Given the description of an element on the screen output the (x, y) to click on. 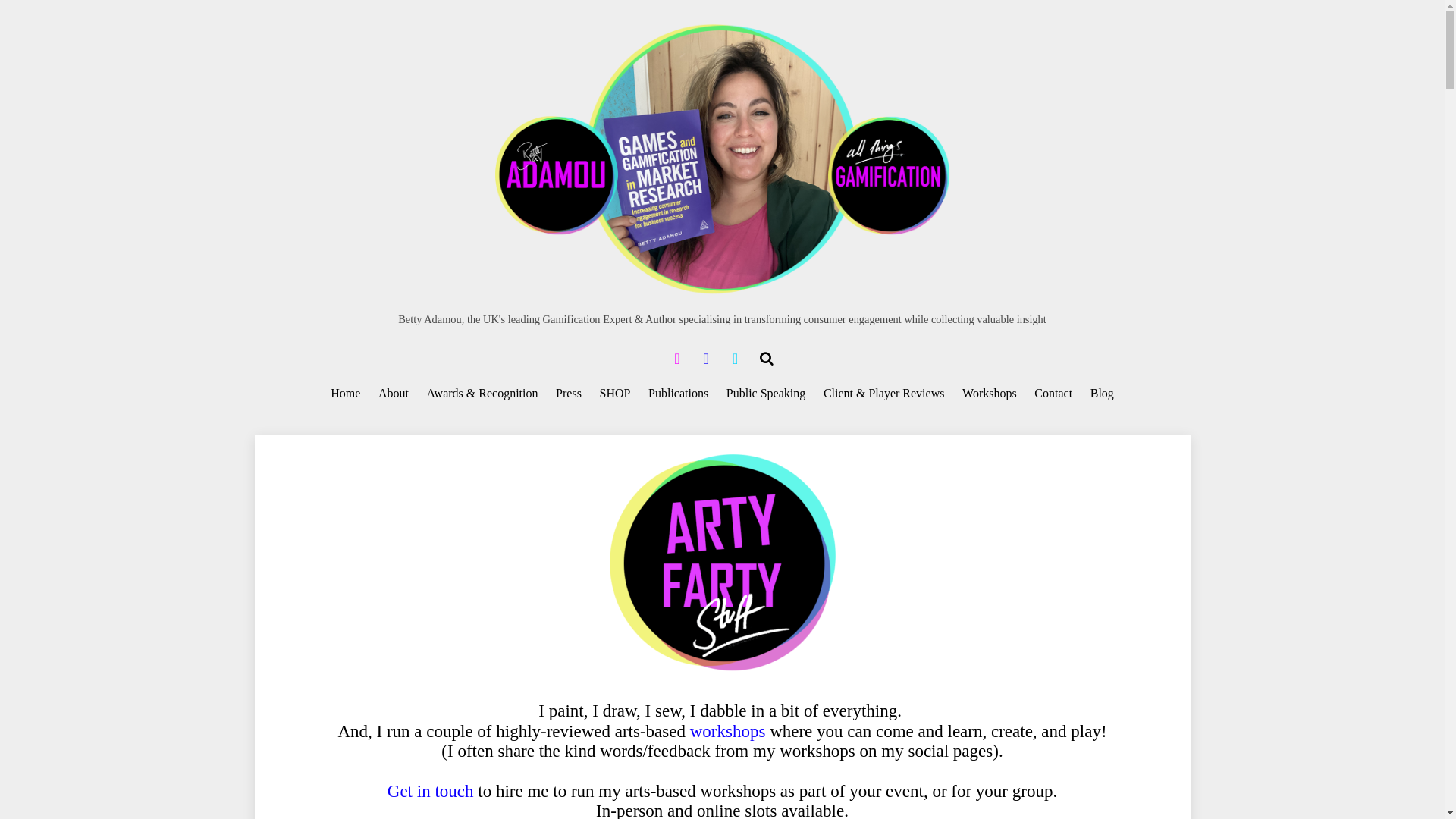
About (392, 393)
SHOP (614, 393)
Betty Adamou (722, 159)
Blog (1102, 393)
Home (345, 393)
workshops (727, 731)
Public Speaking (765, 393)
Betty Adamou (722, 289)
Get in touch (430, 791)
Publications (677, 393)
Contact (1053, 393)
Press (568, 393)
Workshops (989, 393)
